Given the description of an element on the screen output the (x, y) to click on. 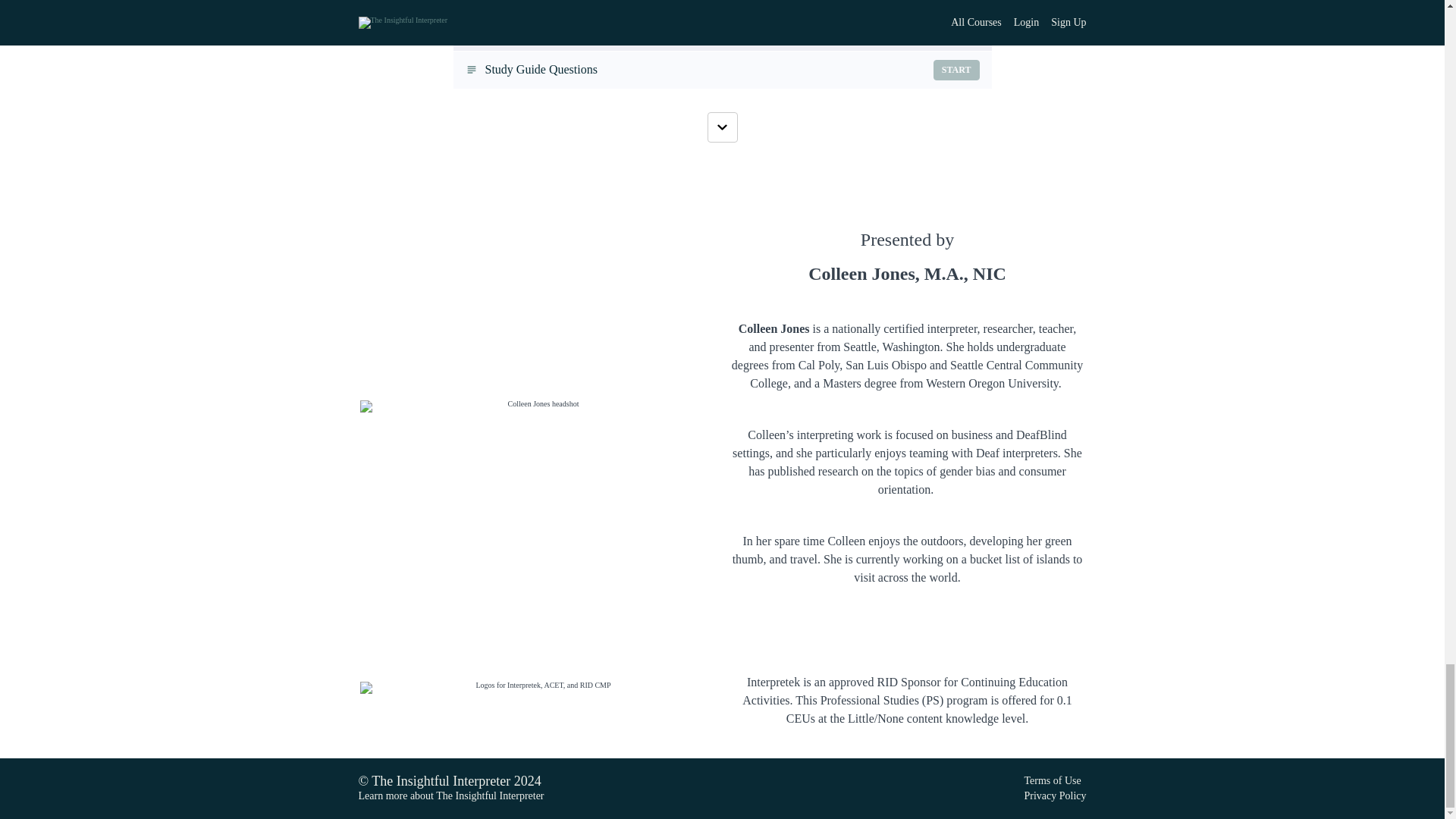
Learn more about The Insightful Interpreter (721, 4)
Terms of Use (450, 795)
Privacy Policy (1051, 780)
START (1054, 795)
START (956, 0)
